Given the description of an element on the screen output the (x, y) to click on. 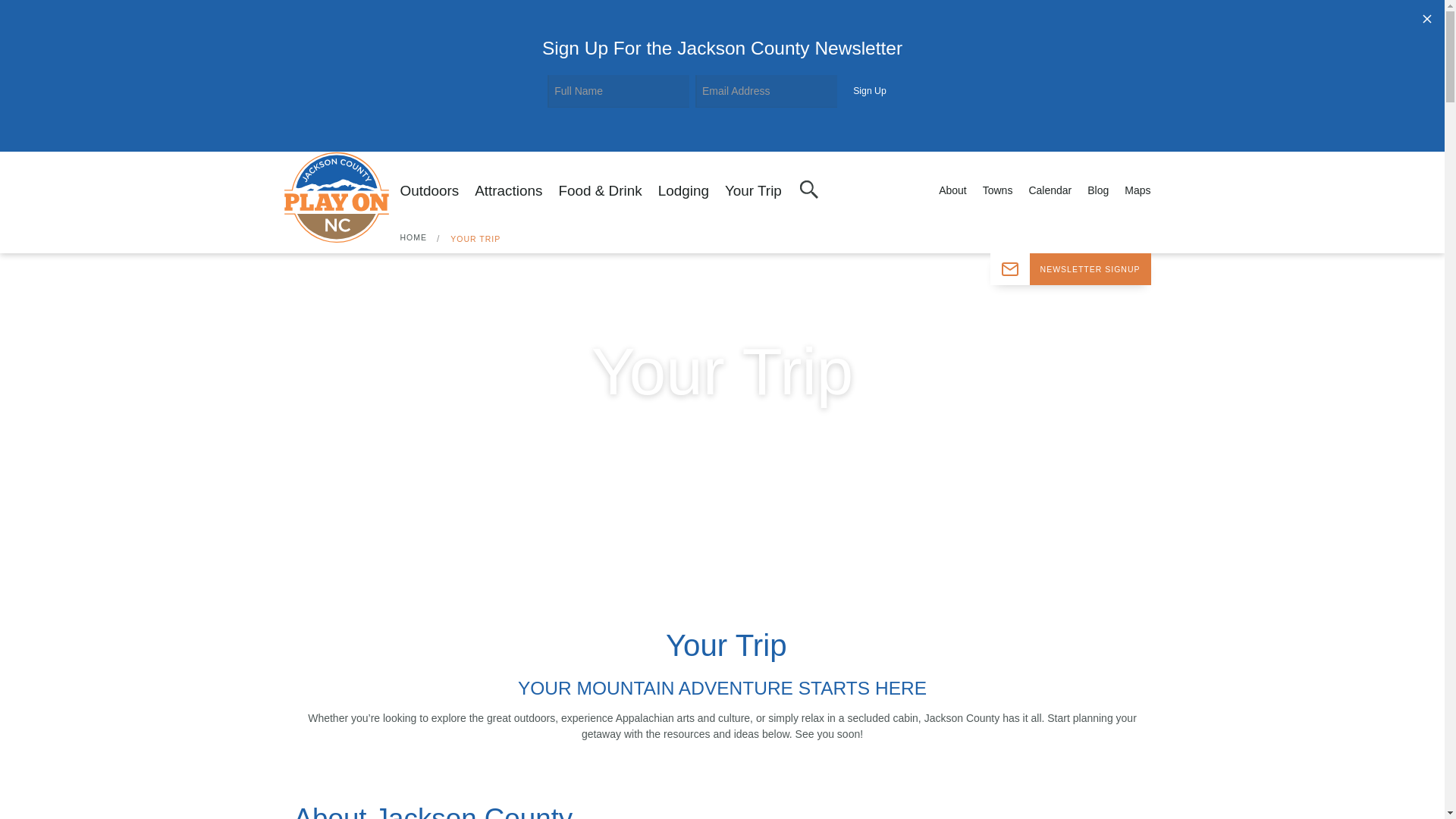
Your Trip (753, 192)
Outdoors (430, 192)
Visit the Front Page (342, 196)
Sign Up (869, 91)
Discover Jackson NC (342, 196)
Lodging (683, 192)
Attractions (507, 192)
Sign Up (869, 91)
